Given the description of an element on the screen output the (x, y) to click on. 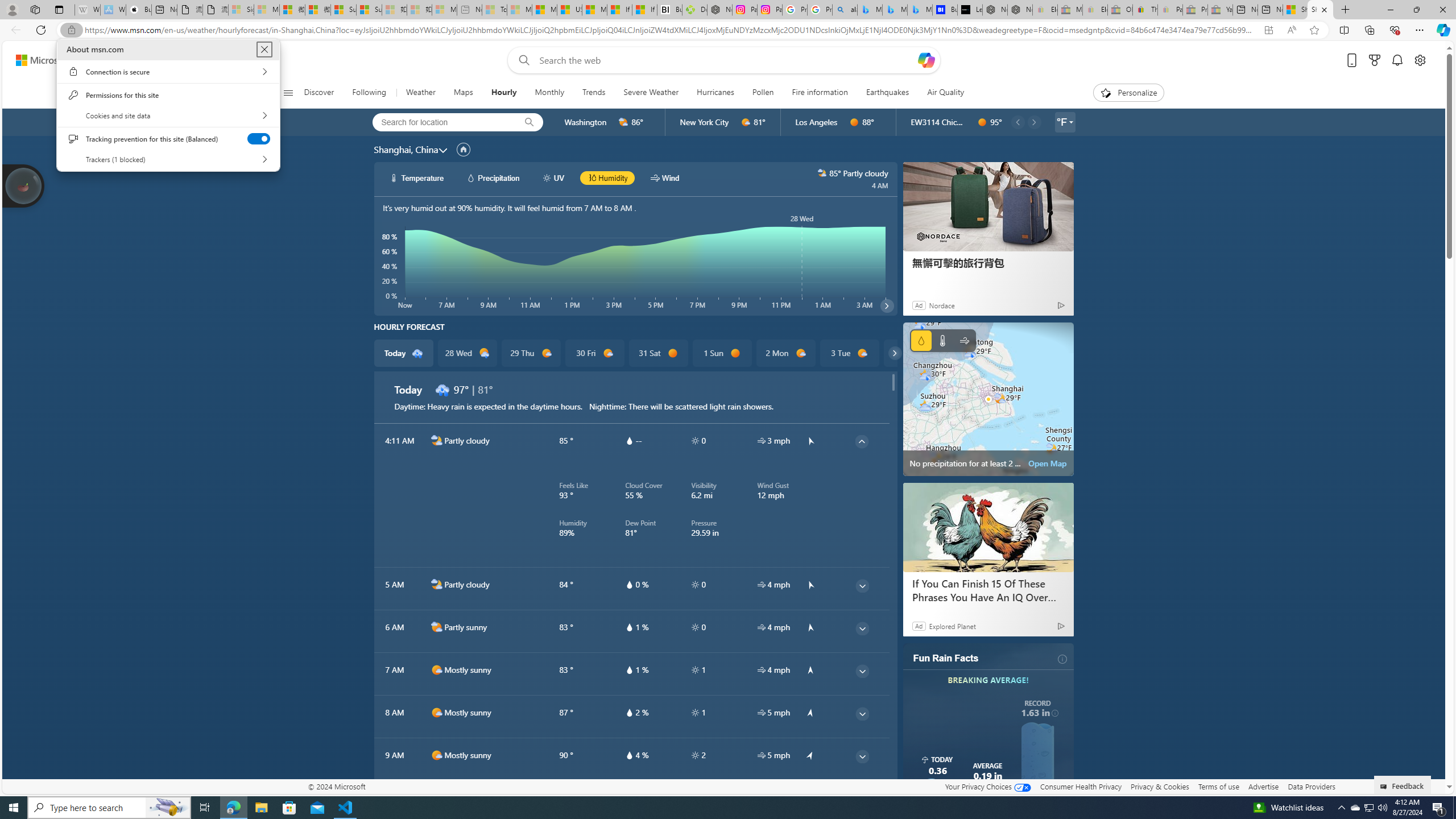
common/carouselChevron (894, 352)
hourlyChart/temperatureWhite Temperature (416, 178)
hourlyChart/humidityBlack (591, 177)
Explored Planet (951, 625)
Air Quality (940, 92)
Microsoft Bing Travel - Flights from Hong Kong to Bangkok (869, 9)
Privacy & Cookies (1160, 786)
Maps (462, 92)
Consumer Health Privacy (1080, 786)
static map image of vector map (988, 398)
Q2790: 100% (1382, 807)
Fire information (820, 92)
